Given the description of an element on the screen output the (x, y) to click on. 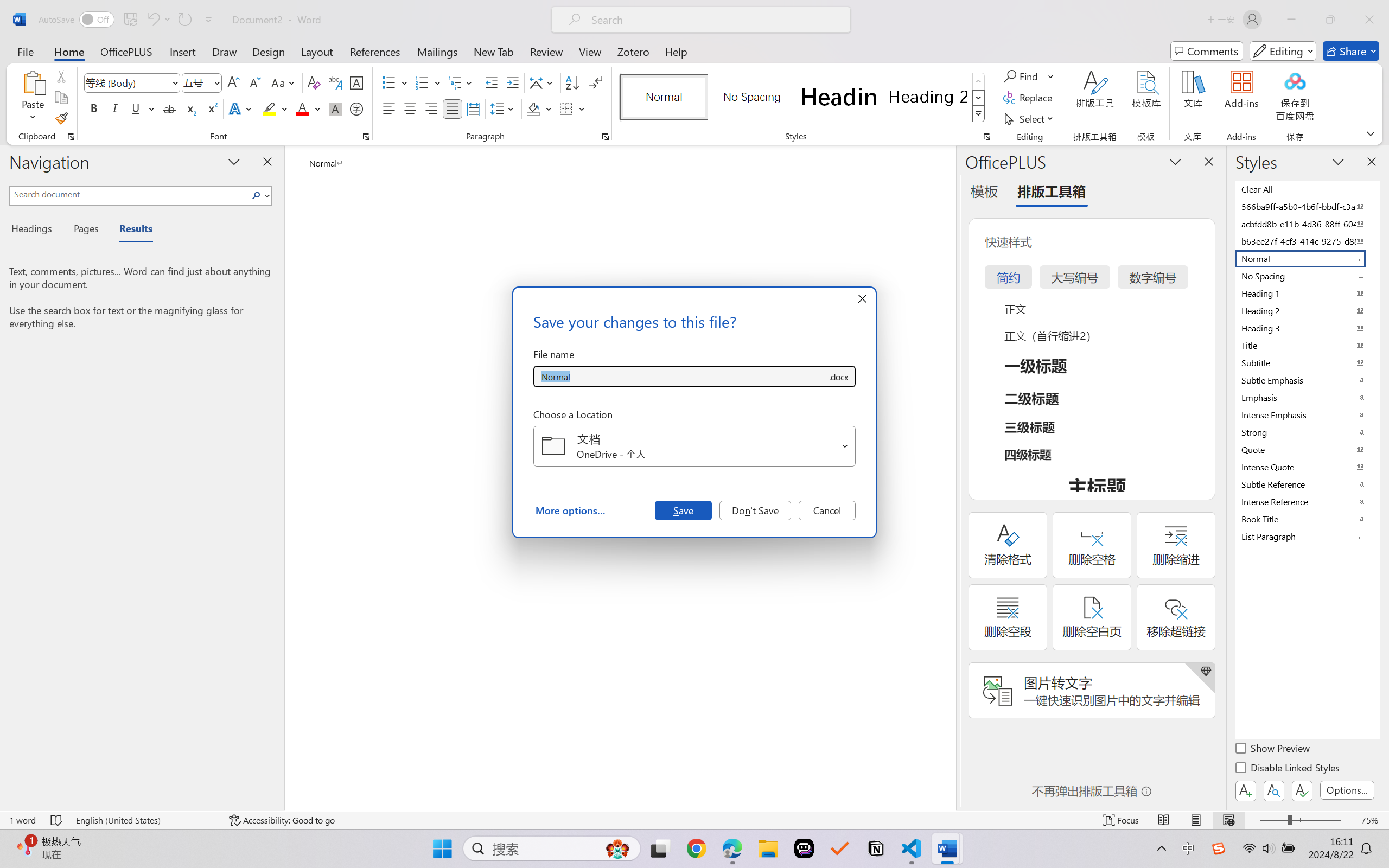
Character Shading (334, 108)
AutomationID: BadgeAnchorLargeTicker (24, 847)
Shading RGB(0, 0, 0) (533, 108)
b63ee27f-4cf3-414c-9275-d88e3f90795e (1306, 240)
OfficePLUS (126, 51)
